Given the description of an element on the screen output the (x, y) to click on. 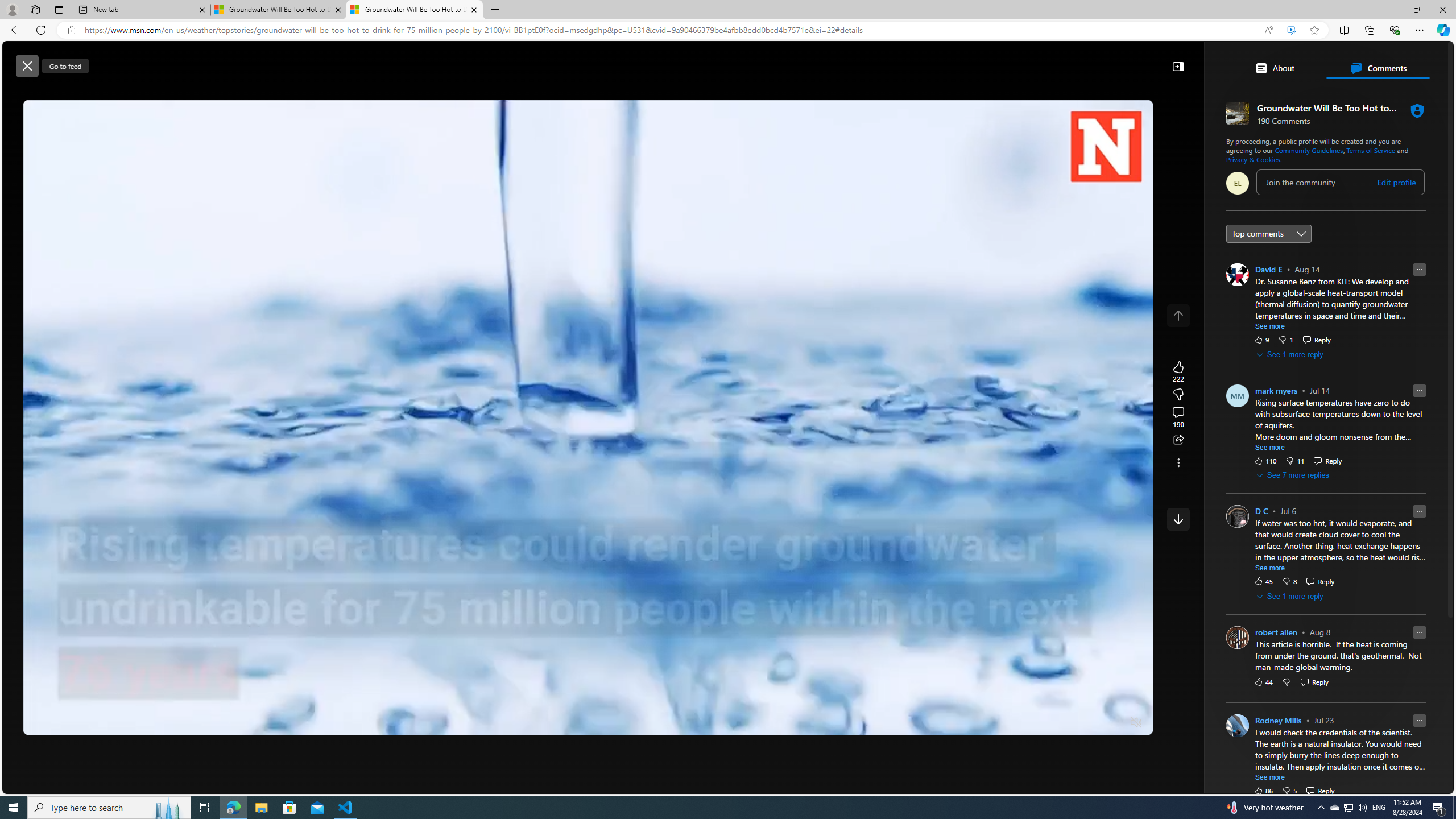
App bar (728, 29)
D C (1261, 511)
44 Like (1262, 681)
Open Copilot (930, 59)
View comments 190 Comment (1178, 417)
Progress Bar (587, 708)
Share this story (1178, 440)
Fullscreen (1114, 723)
Microsoft rewards (1382, 60)
